Given the description of an element on the screen output the (x, y) to click on. 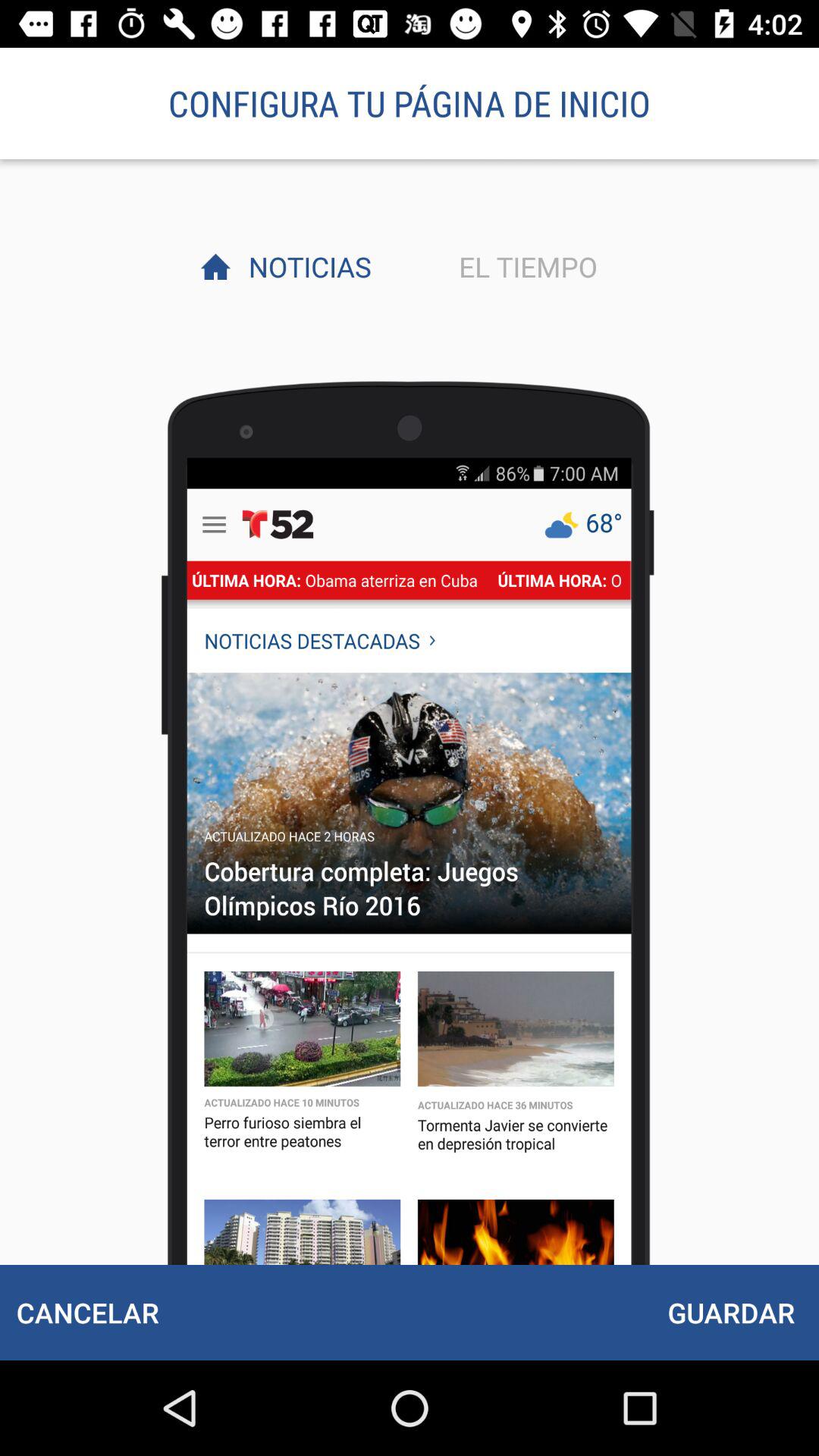
choose item below el tiempo (731, 1312)
